Given the description of an element on the screen output the (x, y) to click on. 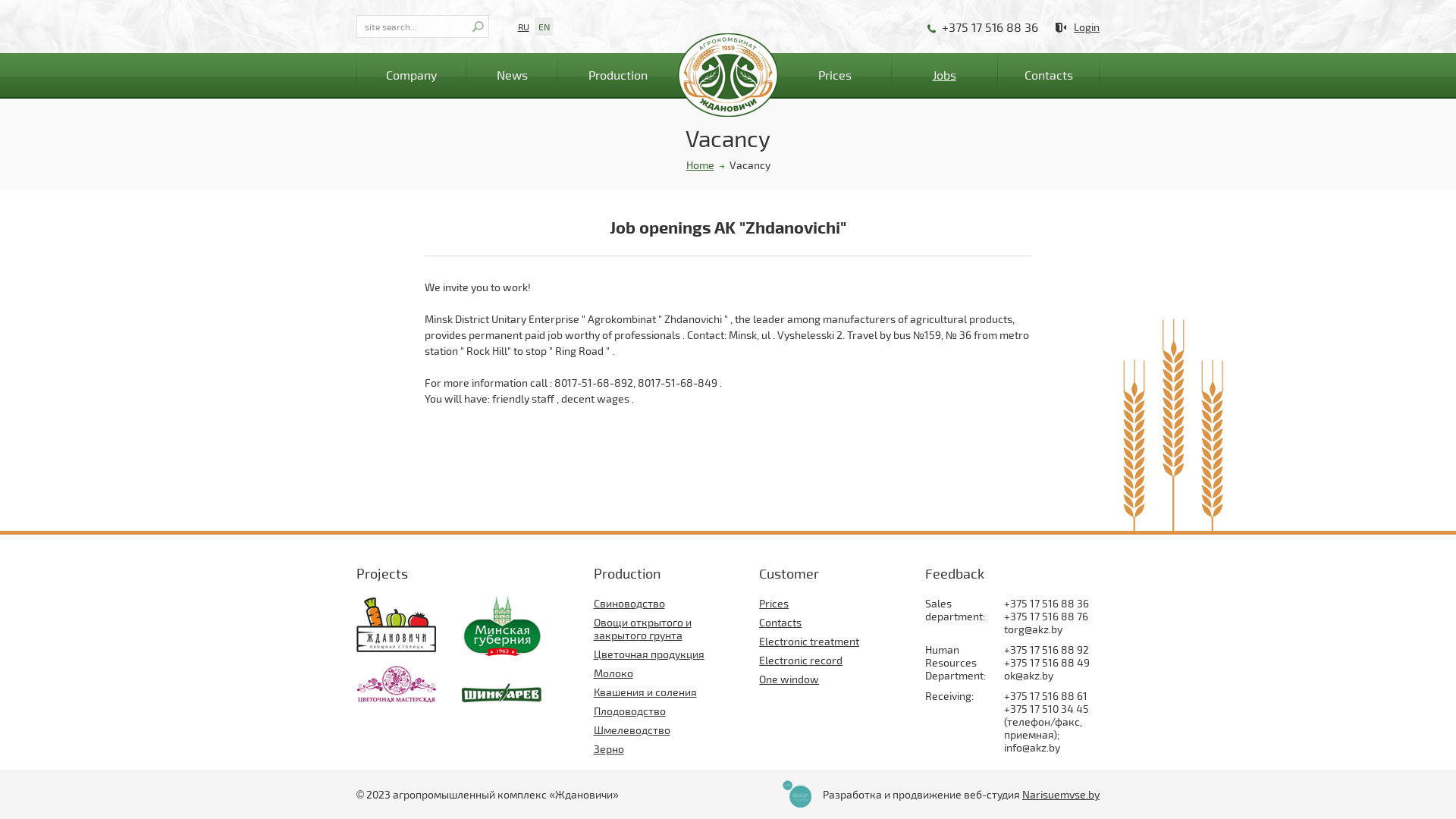
RU Element type: text (523, 26)
Login Element type: text (1077, 26)
Prices Element type: text (773, 602)
News Element type: text (511, 75)
One window Element type: text (789, 678)
Contacts Element type: text (780, 621)
Electronic record Element type: text (800, 659)
Company Element type: text (411, 75)
Narisuemvse.by Element type: text (1060, 793)
Prices Element type: text (809, 75)
Production Element type: text (642, 75)
Home Element type: text (699, 164)
Jobs Element type: text (944, 75)
Contacts Element type: text (1048, 75)
Electronic treatment Element type: text (809, 640)
